Given the description of an element on the screen output the (x, y) to click on. 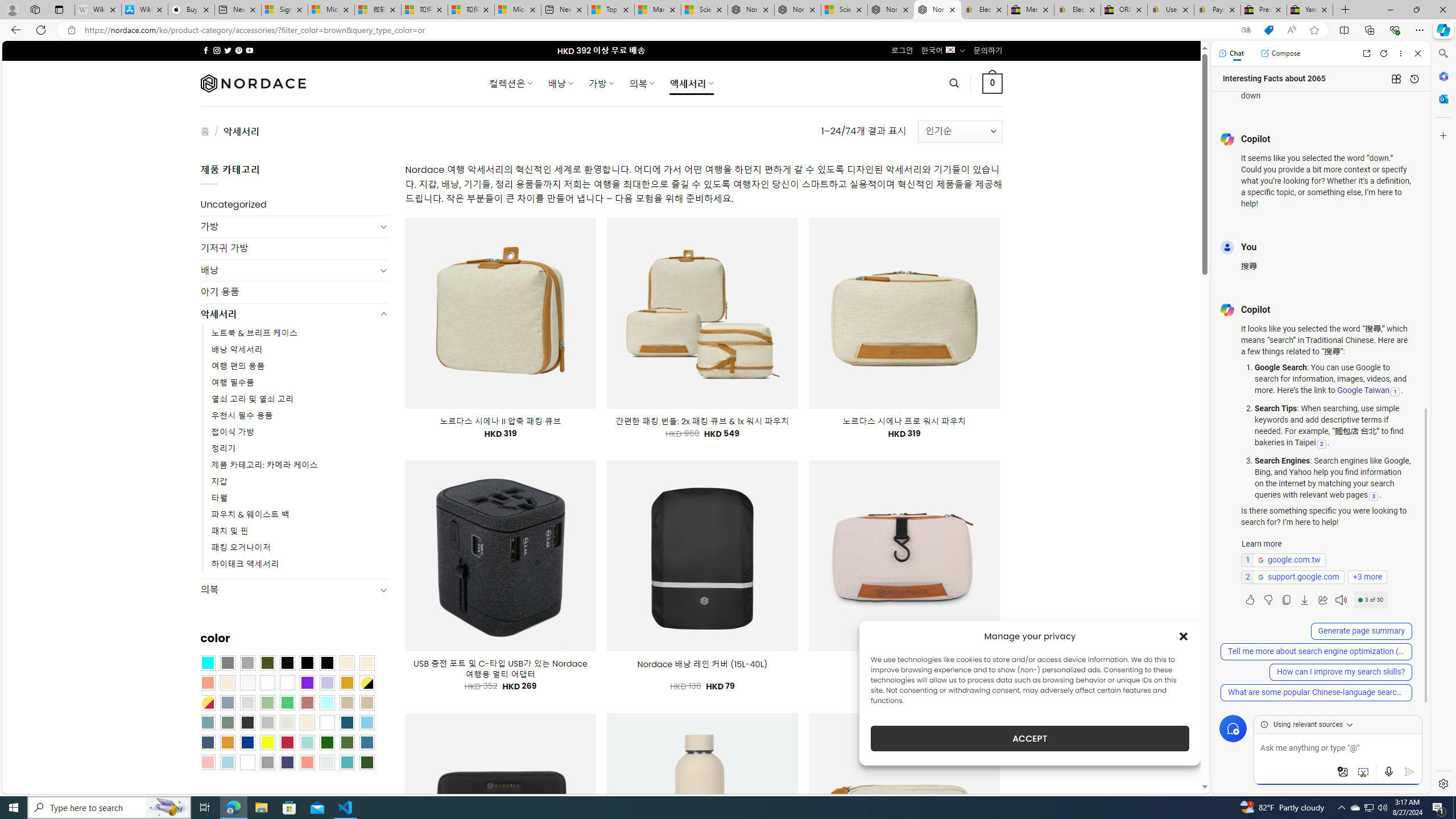
Follow on Pinterest (237, 50)
This site has coupons! Shopping in Microsoft Edge (1268, 29)
